Given the description of an element on the screen output the (x, y) to click on. 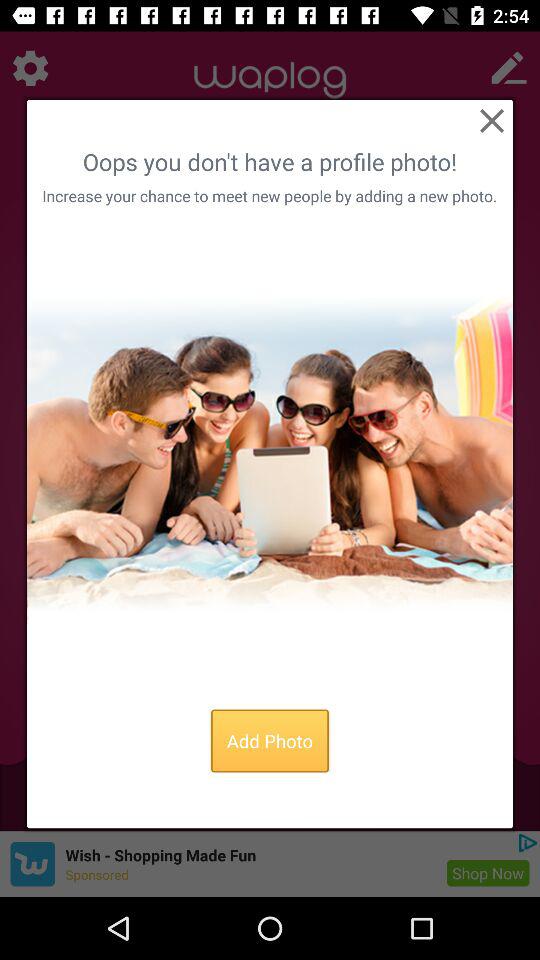
add photo (270, 453)
